Given the description of an element on the screen output the (x, y) to click on. 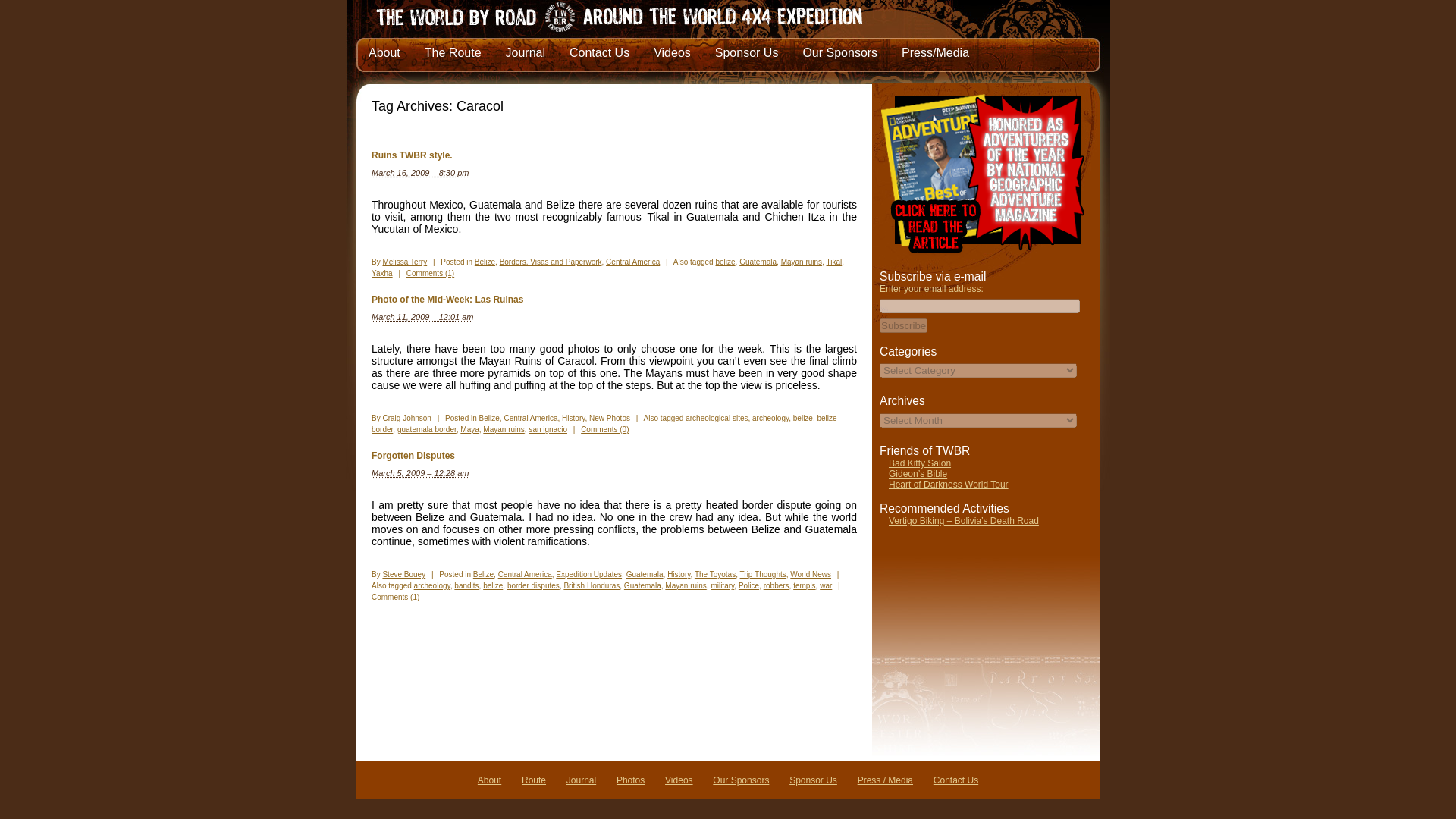
Route (533, 779)
Photo of the Mid-Week: Las Ruinas (446, 299)
Permalink to Ruins TWBR style. (411, 154)
Central America (632, 261)
Videos (672, 52)
Guatemala (757, 261)
About The World By Road (488, 779)
2009-03-05T00:28:59-0500 (419, 472)
Borders, Visas and Paperwork (550, 261)
Permalink to Photo of the Mid-Week: Las Ruinas (446, 299)
